Given the description of an element on the screen output the (x, y) to click on. 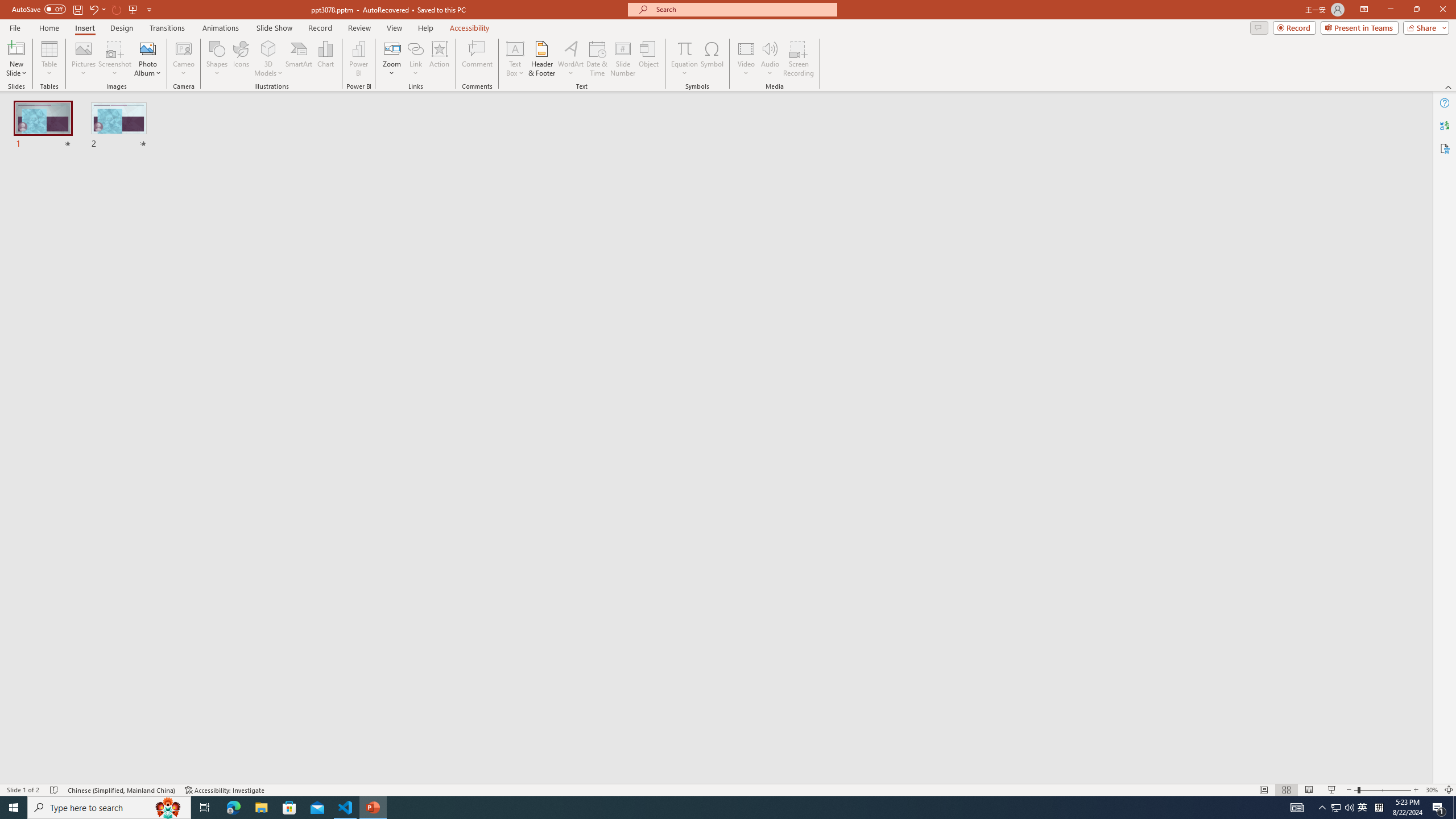
remote (69, 766)
No Problems (121, 766)
Problems (Ctrl+Shift+M) (323, 533)
Wikipedia, the free encyclopedia (247, 78)
